Given the description of an element on the screen output the (x, y) to click on. 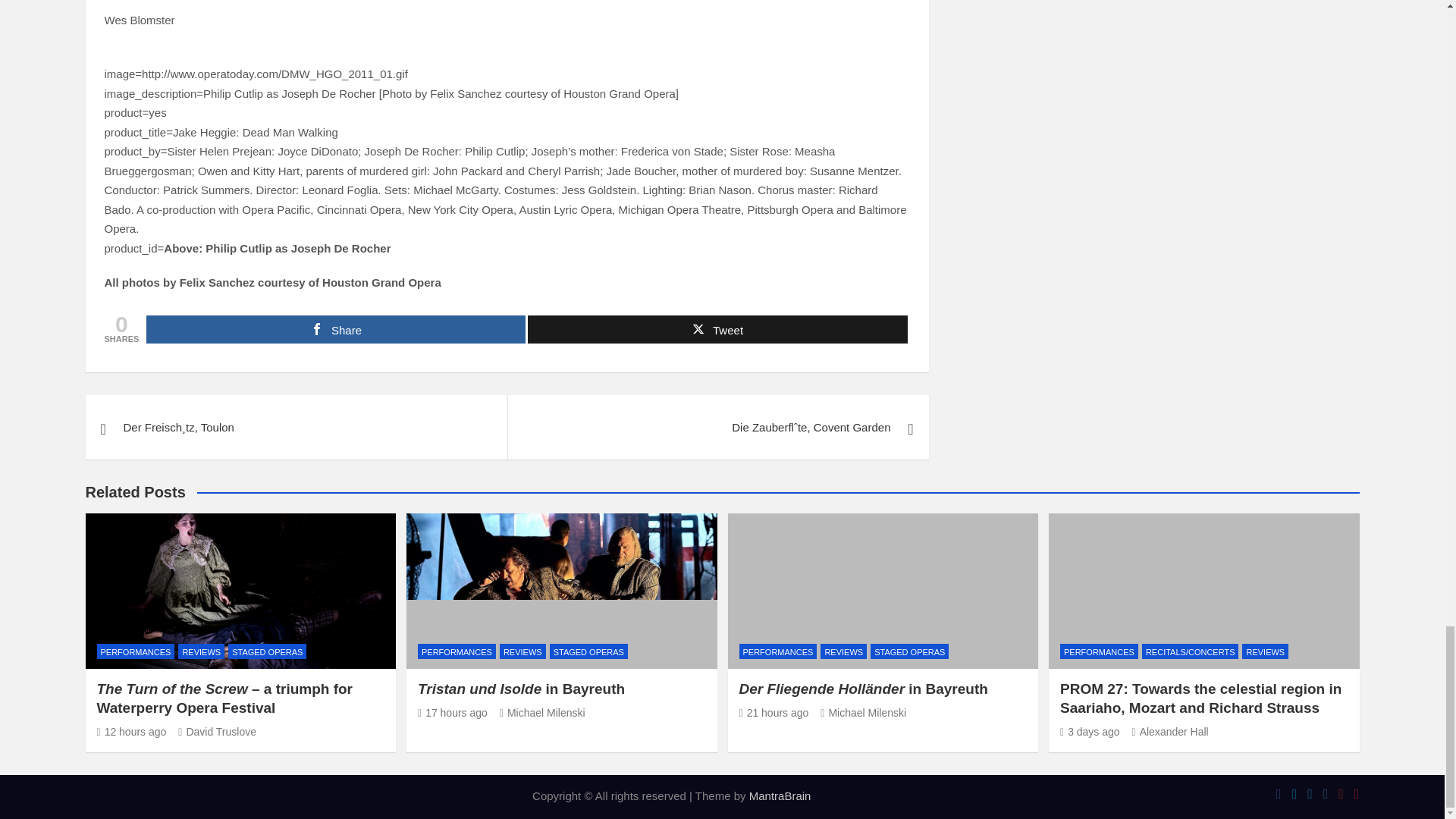
Tweet (717, 329)
REVIEWS (522, 651)
REVIEWS (200, 651)
Share (336, 329)
STAGED OPERAS (588, 651)
PERFORMANCES (135, 651)
David Truslove (216, 731)
Tristan und Isolde in Bayreuth (520, 688)
PERFORMANCES (456, 651)
Tristan und Isolde in Bayreuth (452, 712)
